Given the description of an element on the screen output the (x, y) to click on. 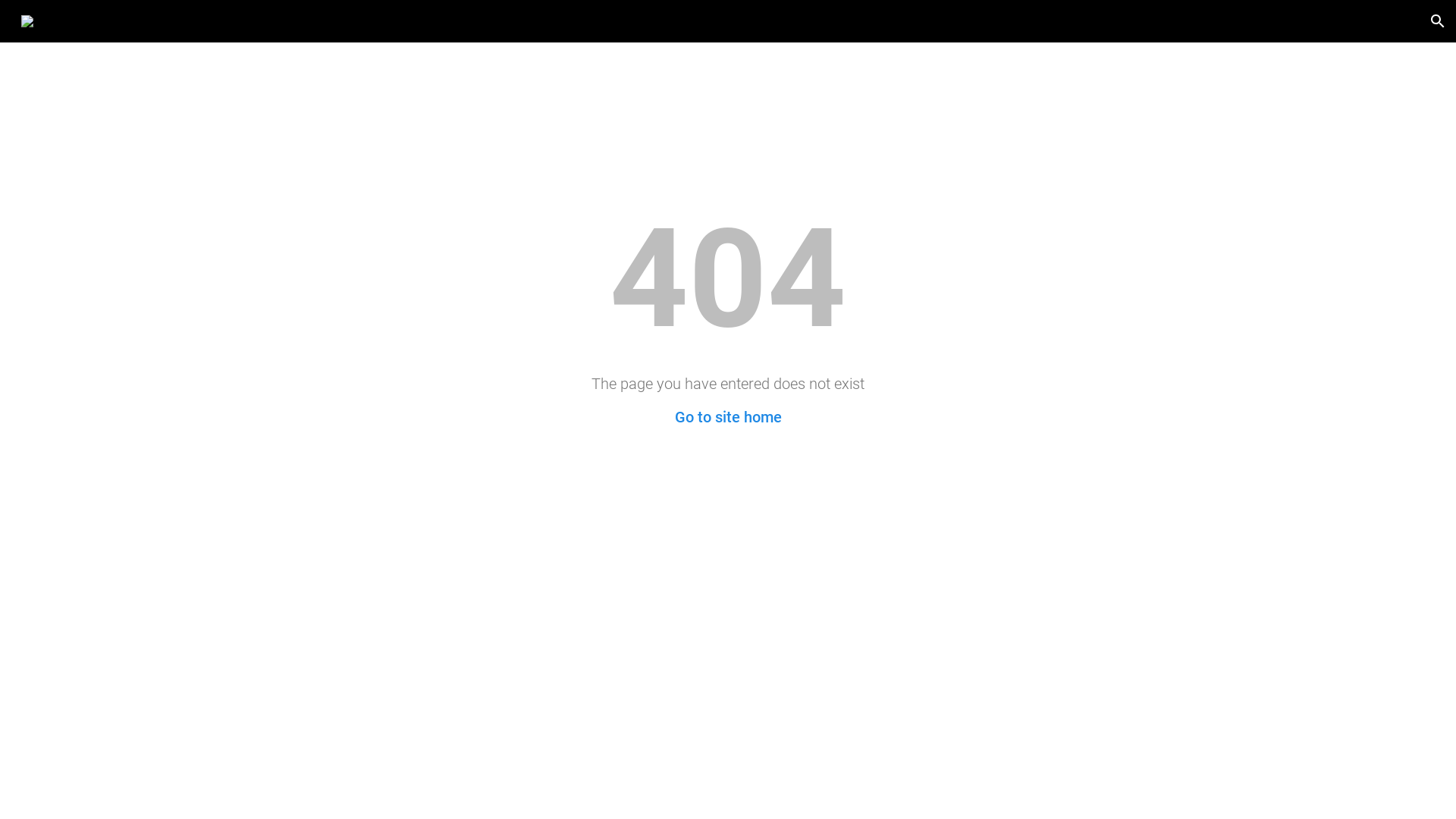
Go to site home Element type: text (727, 416)
